Given the description of an element on the screen output the (x, y) to click on. 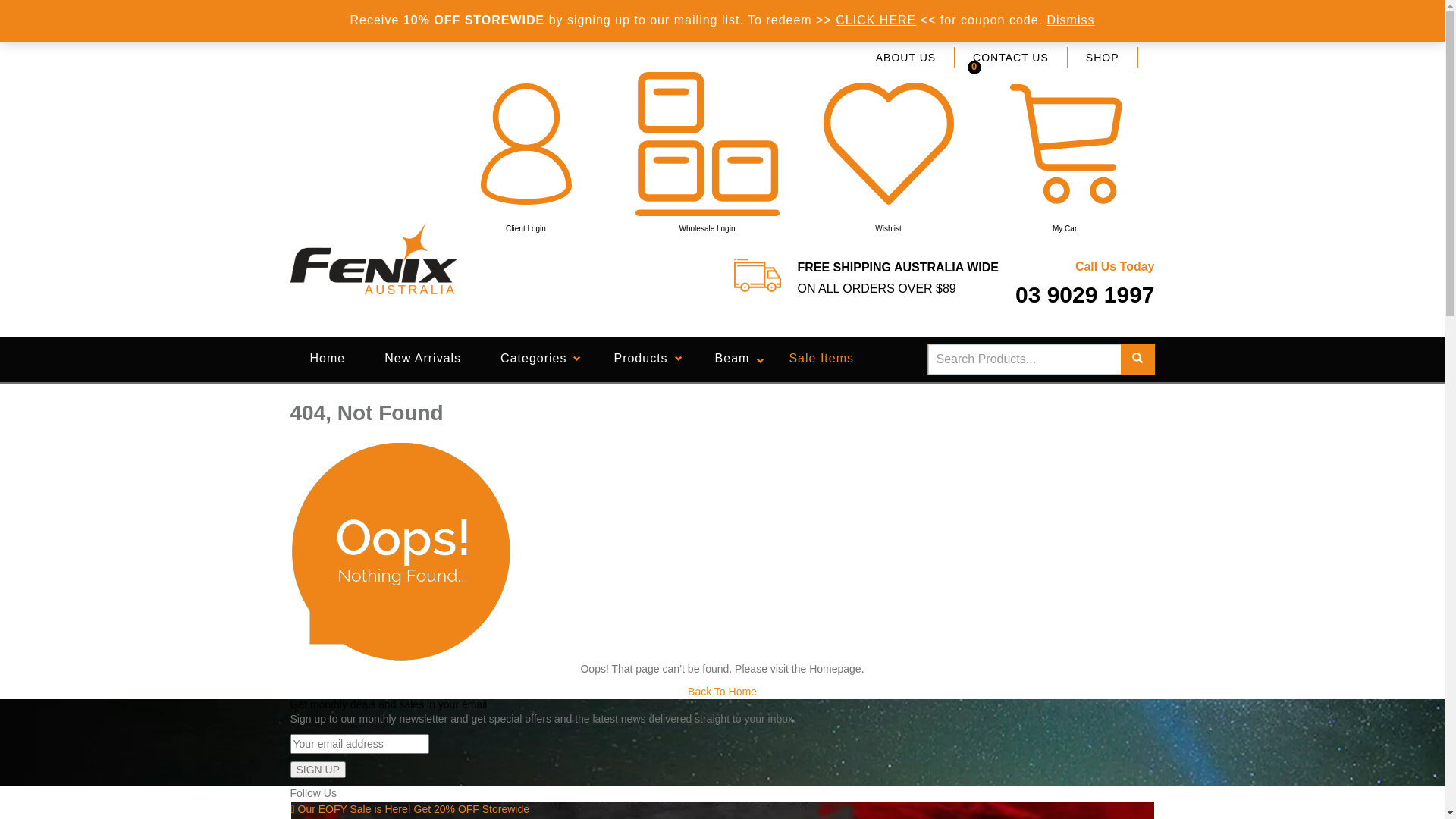
Categories Element type: text (536, 359)
ABOUT US Element type: text (905, 57)
Dismiss Element type: text (1070, 19)
Products Element type: text (643, 359)
My Cart Element type: text (1065, 151)
Beam Element type: text (732, 359)
CLICK HERE Element type: text (875, 19)
Back To Home Element type: text (721, 691)
New Arrivals Element type: text (422, 359)
SIGN UP Element type: text (317, 769)
Wishlist
0 Element type: text (887, 151)
Home Element type: text (326, 359)
Sale Items Element type: text (820, 359)
CONTACT US Element type: text (1010, 57)
Client Login Element type: text (525, 151)
SHOP Element type: text (1102, 57)
03 9029 1997 Element type: text (1084, 295)
Wholesale Login Element type: text (706, 151)
